Given the description of an element on the screen output the (x, y) to click on. 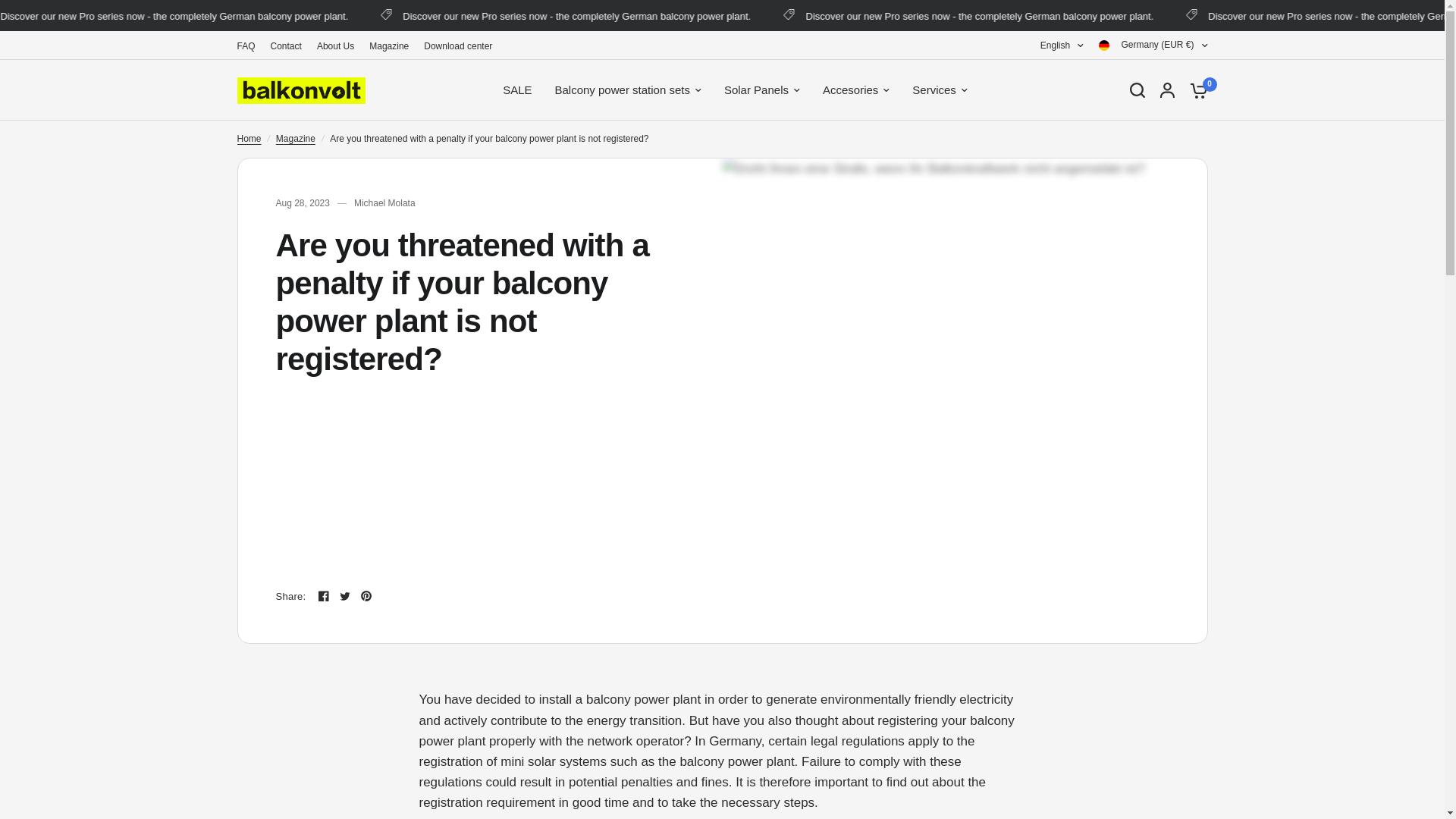
Contact (285, 46)
Download center (457, 46)
SALE (516, 90)
Download center (457, 46)
Magazine (389, 46)
About Us (335, 46)
FAQ (244, 46)
About Us (335, 46)
Magazine (389, 46)
Contact (285, 46)
English (1062, 45)
FAQ (244, 46)
